Given the description of an element on the screen output the (x, y) to click on. 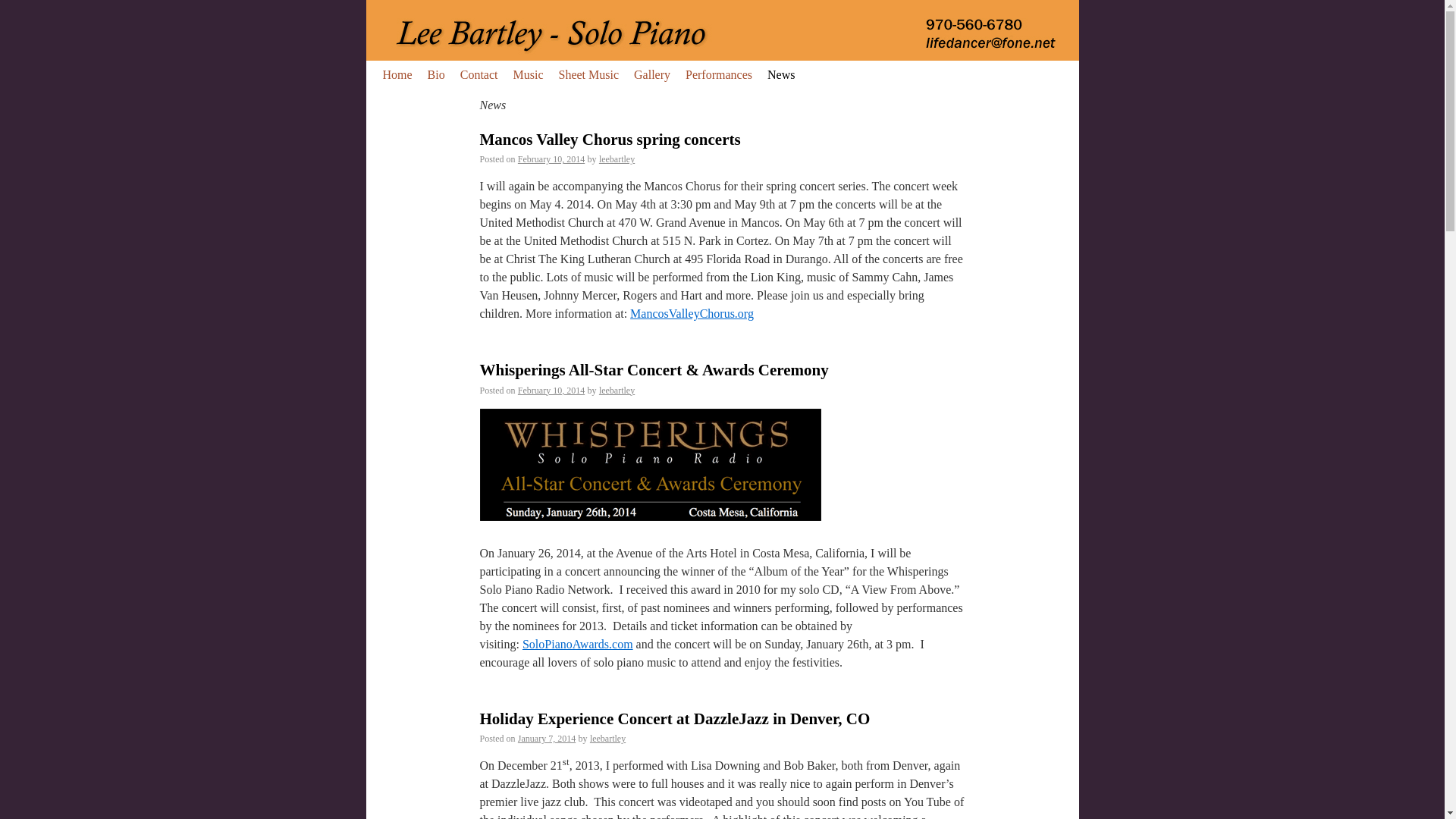
6:18 am (546, 738)
Bio (436, 74)
Permalink to Mancos Valley Chorus spring concerts (609, 139)
Sheet Music (588, 74)
Home (396, 74)
MancosValleyChorus.org (692, 313)
Music (527, 74)
leebartley (616, 158)
3:29 pm (551, 158)
